Given the description of an element on the screen output the (x, y) to click on. 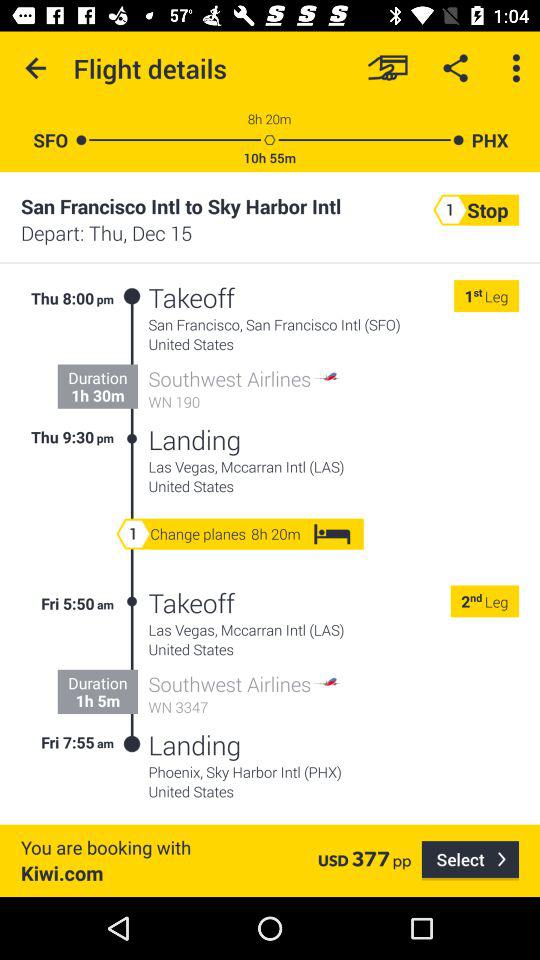
choose the item next to takeoff icon (131, 368)
